Given the description of an element on the screen output the (x, y) to click on. 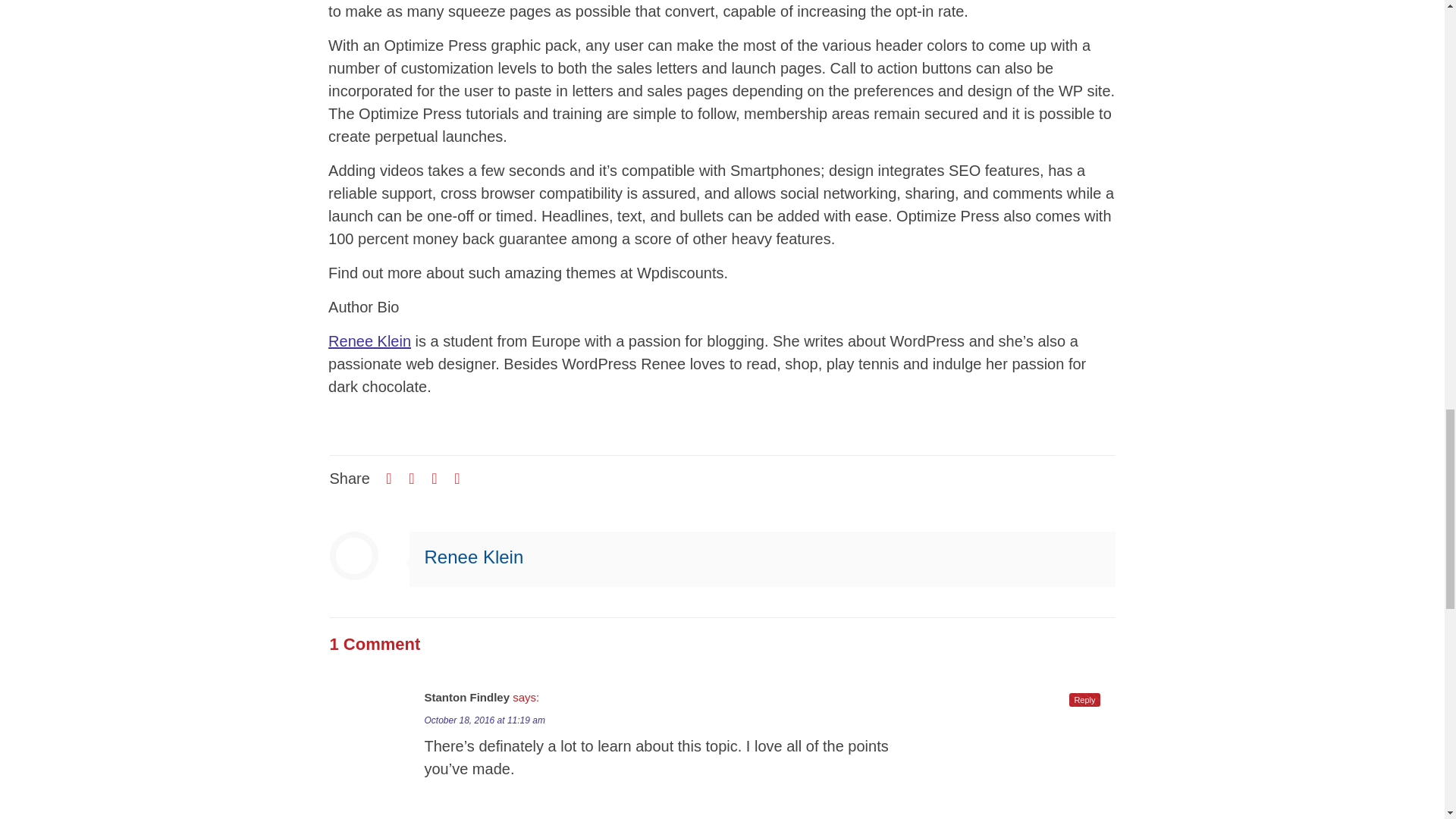
Renee Klein (369, 340)
